Given the description of an element on the screen output the (x, y) to click on. 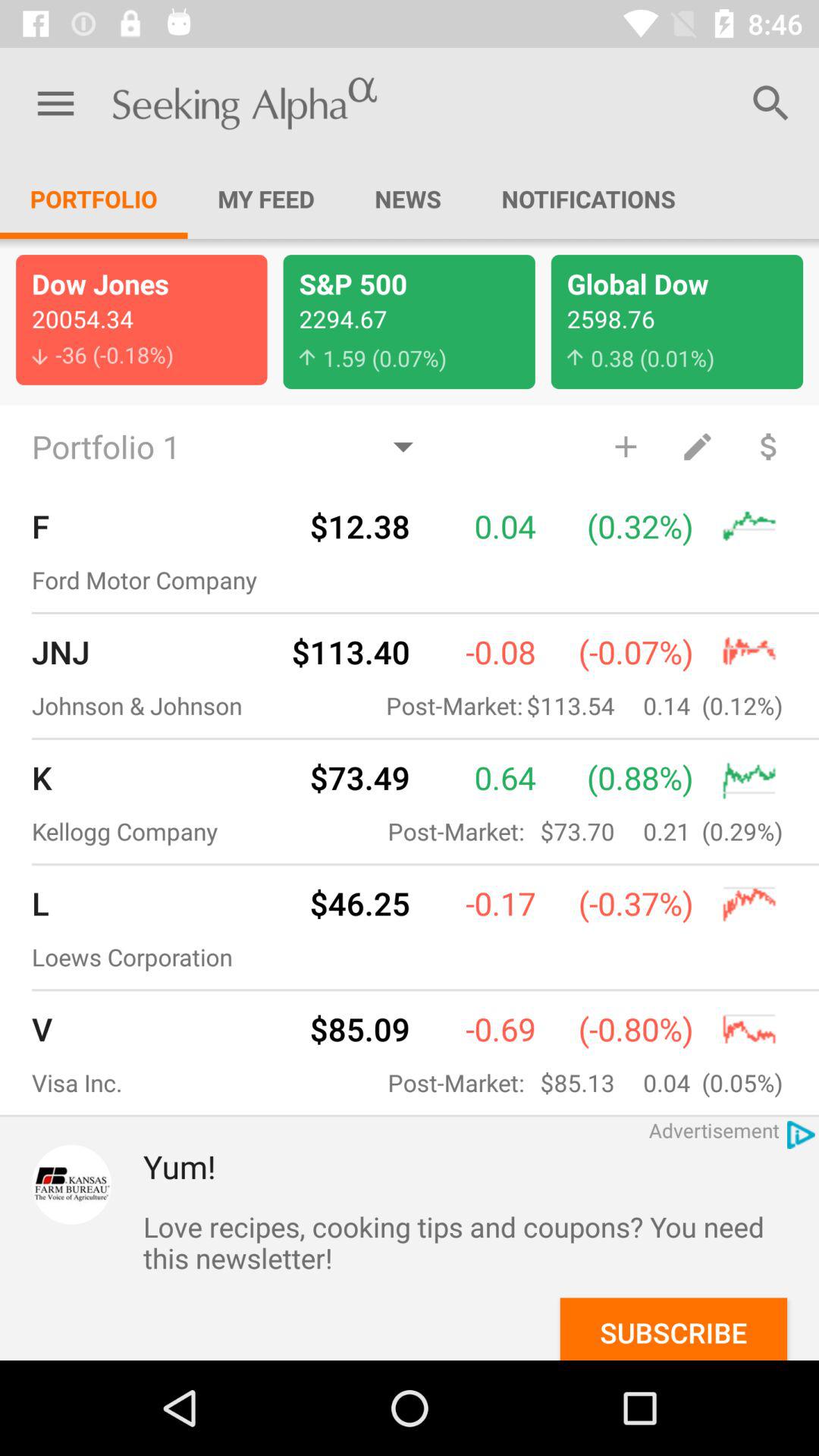
adds a note (697, 446)
